Given the description of an element on the screen output the (x, y) to click on. 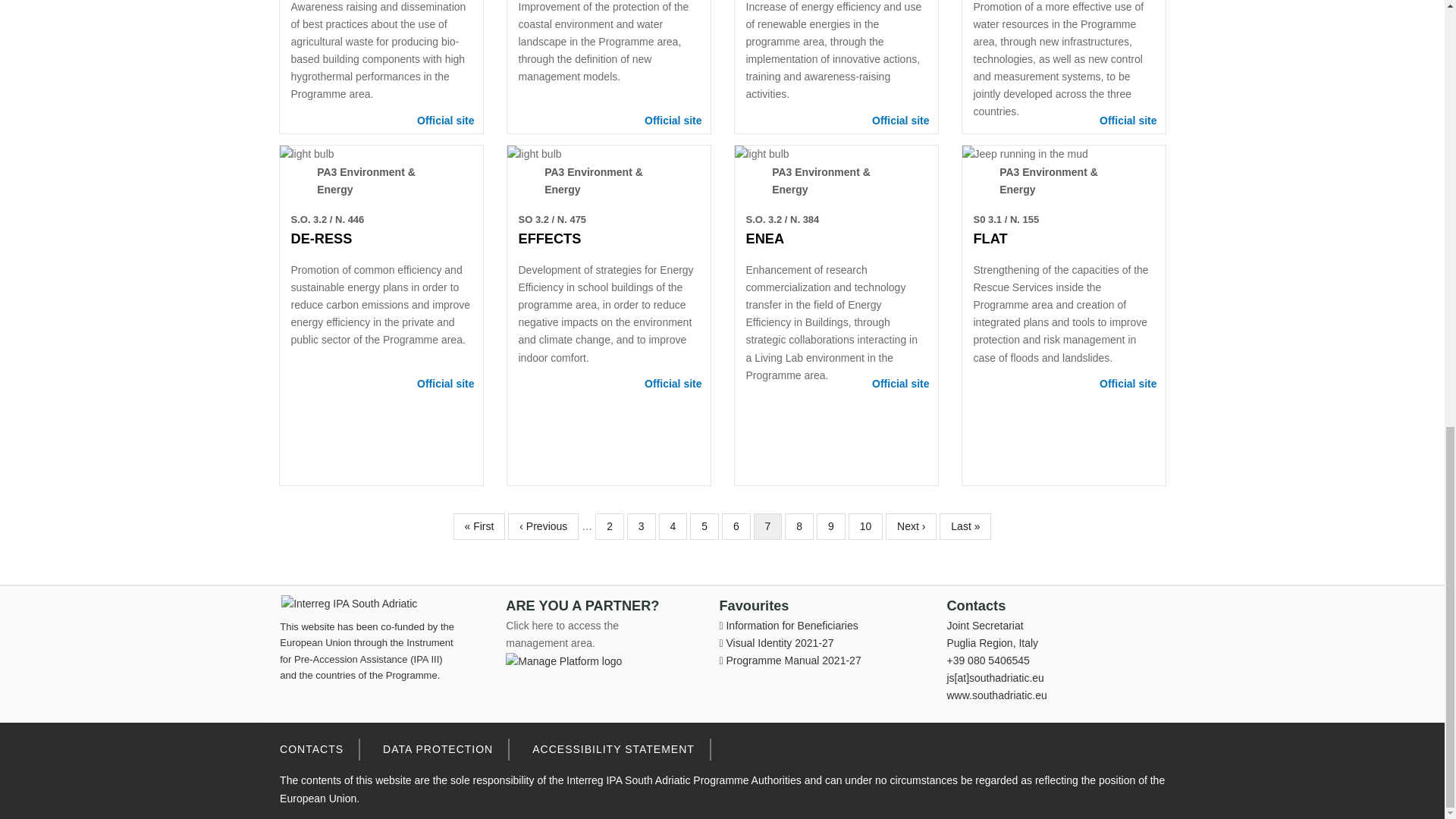
Go to page 2 (609, 526)
Official site (673, 120)
Official site (445, 120)
Go to first page (478, 526)
Development of strategies for Energy Efficiency  (533, 153)
Official site (900, 120)
Go to page 3 (641, 526)
Promotion of common efficiency and sustainable energy (306, 153)
Go to previous page (543, 526)
Official site (1127, 120)
